Given the description of an element on the screen output the (x, y) to click on. 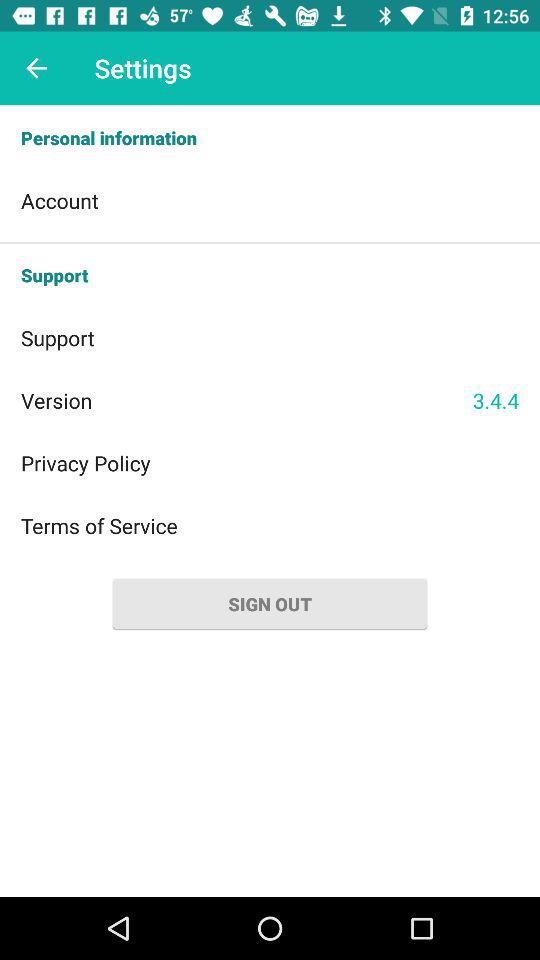
turn on version icon (246, 400)
